Given the description of an element on the screen output the (x, y) to click on. 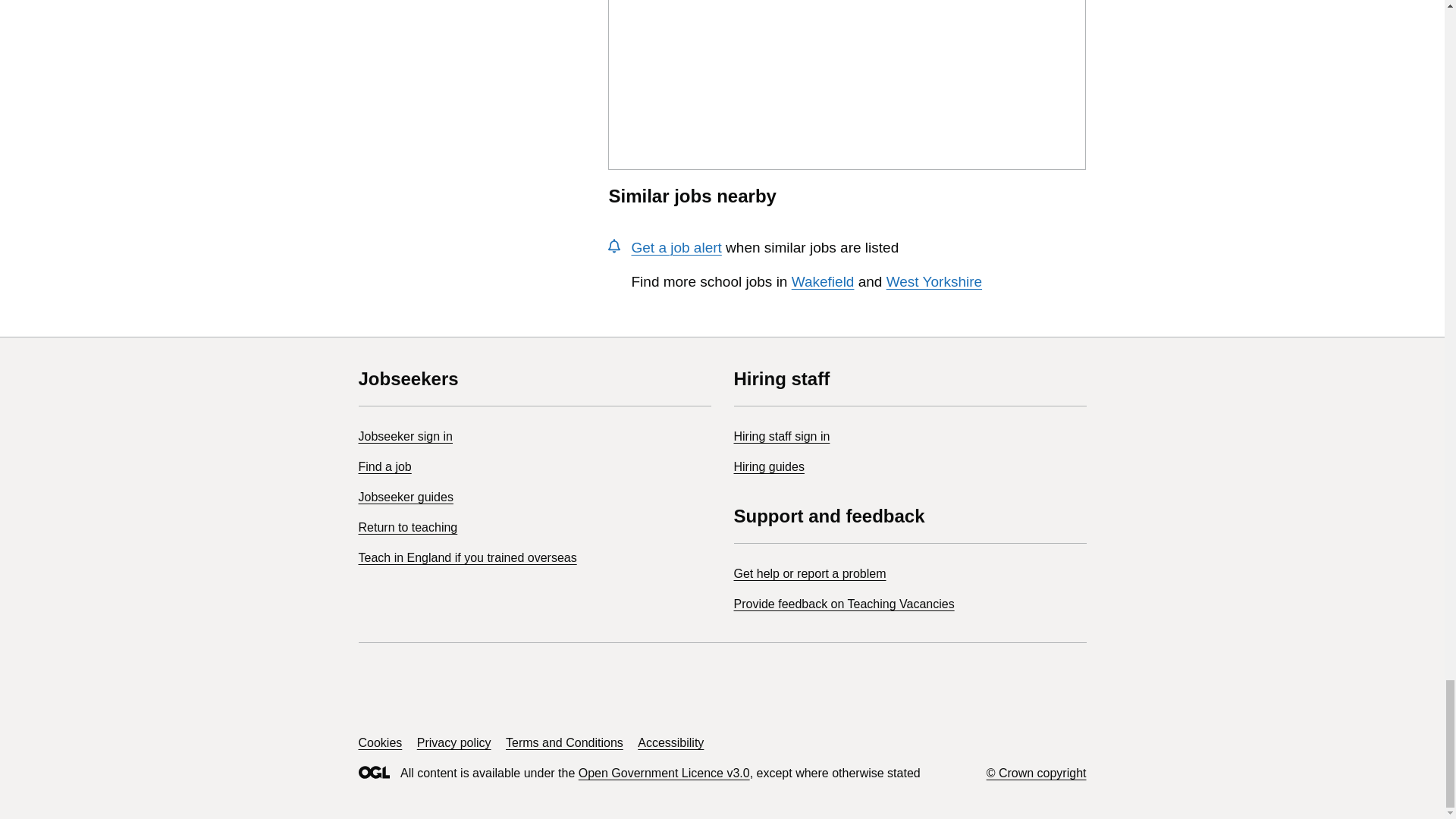
Jobseeker sign in (405, 436)
West Yorkshire (933, 281)
Jobseeker guides (405, 496)
Hiring guides (769, 466)
Find a job (384, 466)
Get a job alert (675, 247)
Wakefield (823, 281)
Teach in England if you trained overseas (467, 557)
Hiring staff sign in (781, 436)
Privacy policy (454, 742)
Provide feedback on Teaching Vacancies (844, 603)
Cookies (379, 742)
Get help or report a problem (809, 573)
Return to teaching (407, 526)
Terms and Conditions (564, 742)
